Given the description of an element on the screen output the (x, y) to click on. 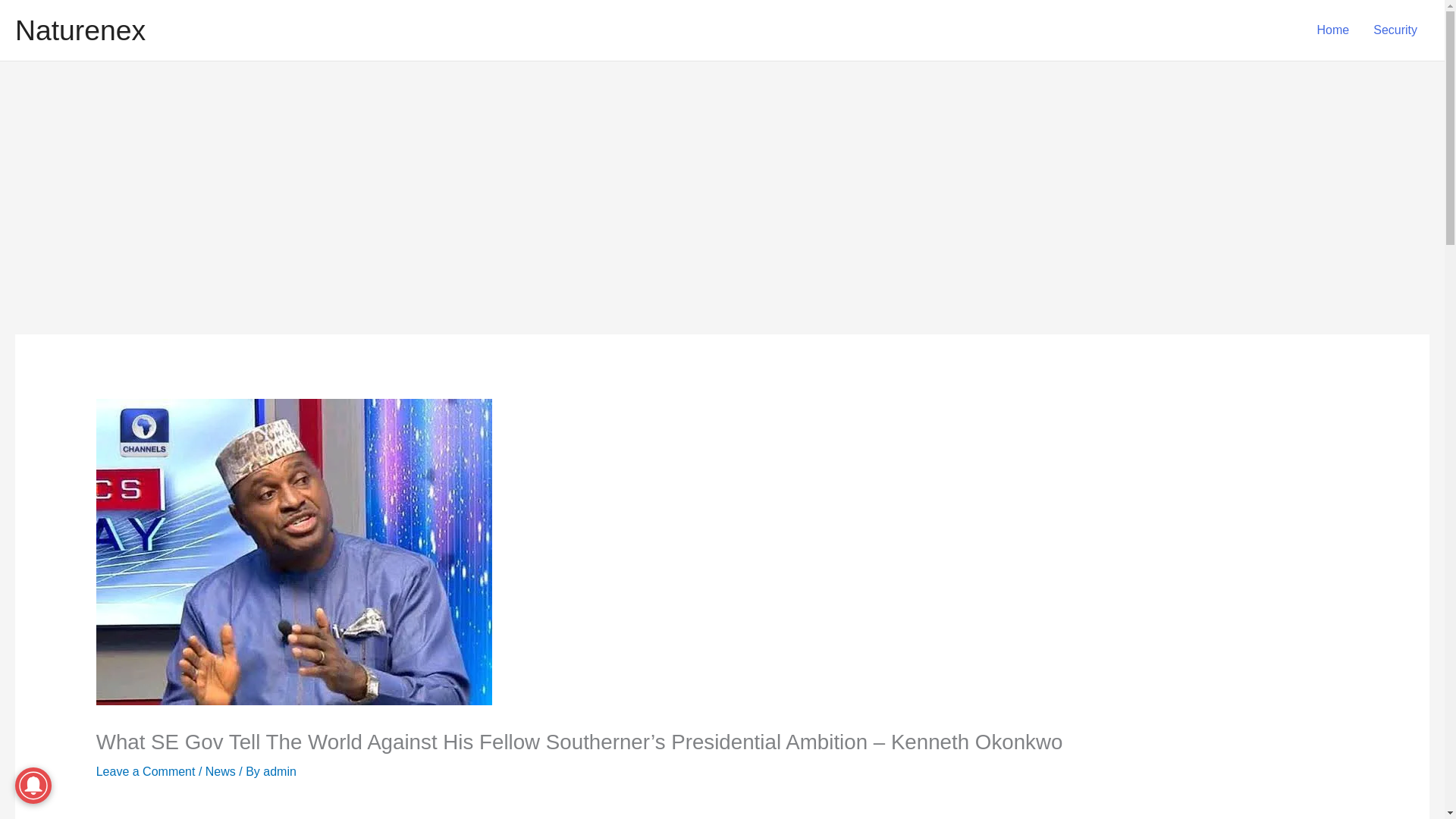
Security (1395, 30)
Leave a Comment (145, 771)
admin (280, 771)
View all posts by admin (280, 771)
Advertisement (516, 811)
Naturenex (79, 29)
News (220, 771)
Home (1332, 30)
